Given the description of an element on the screen output the (x, y) to click on. 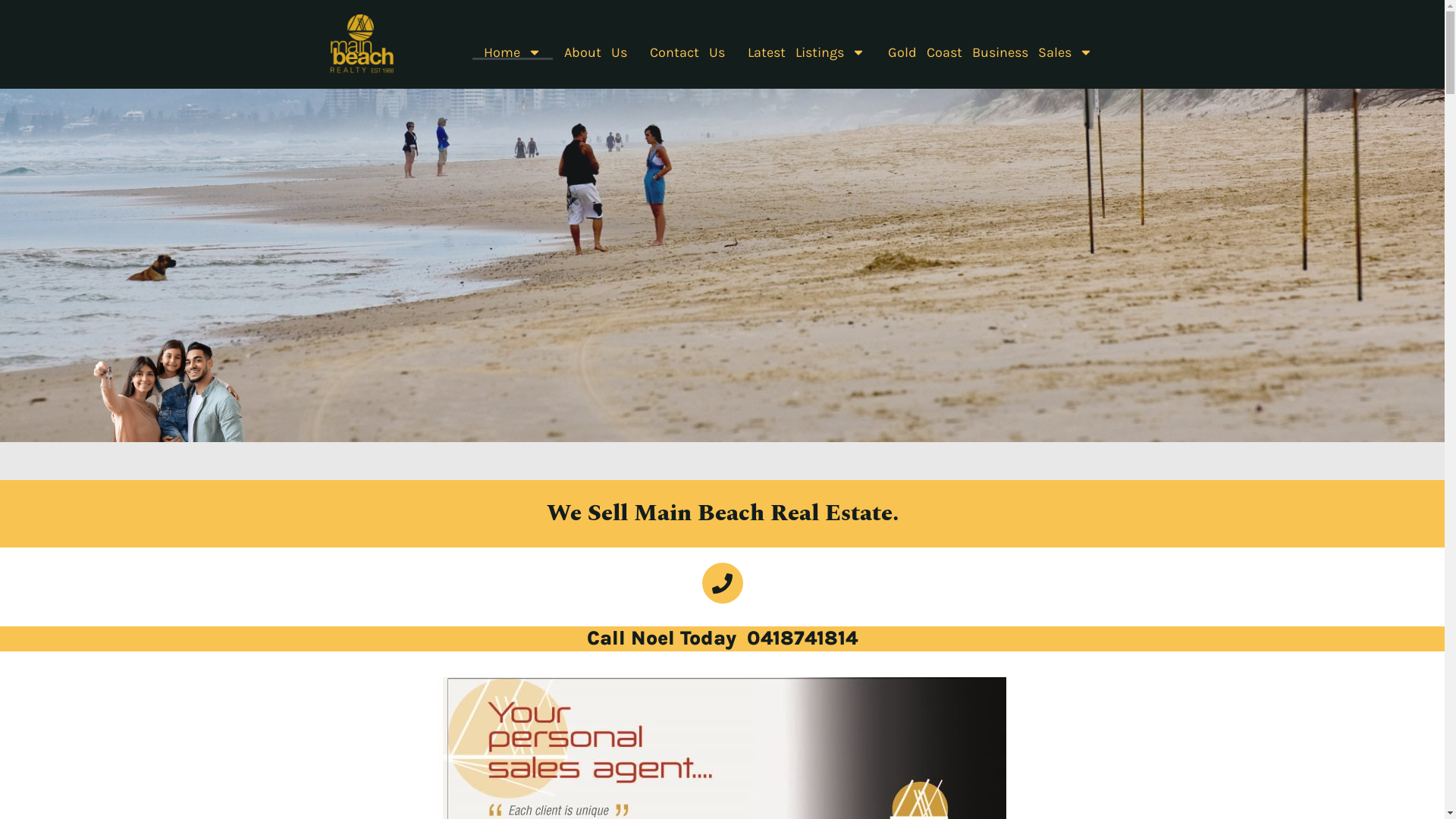
Gold Coast Business Sales Element type: text (990, 51)
Contact Us Element type: text (687, 51)
About Us Element type: text (595, 51)
Home Element type: text (512, 51)
Latest Listings Element type: text (806, 51)
